Given the description of an element on the screen output the (x, y) to click on. 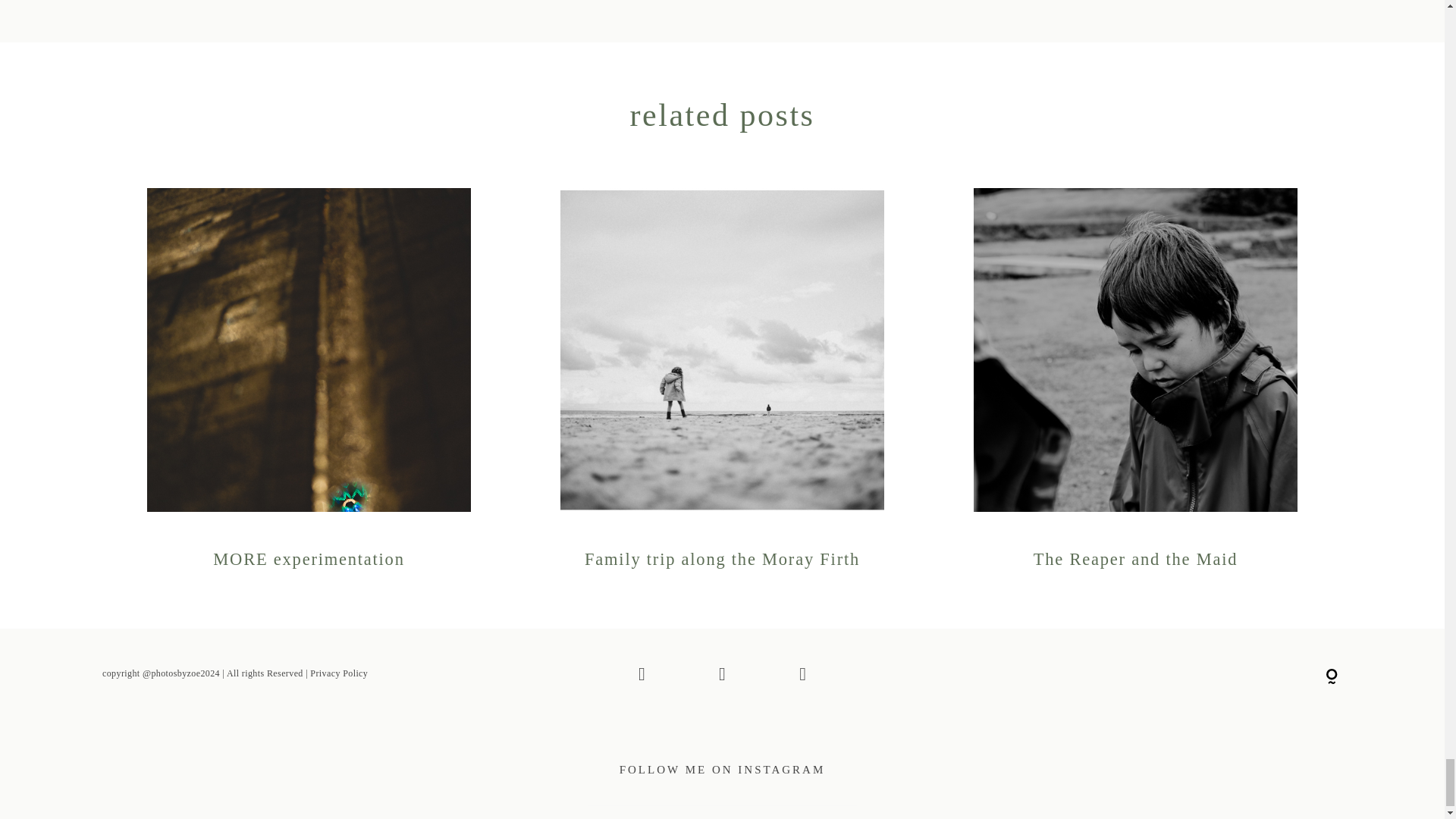
Sorry, your browser does not support inline SVG. (1331, 677)
